Given the description of an element on the screen output the (x, y) to click on. 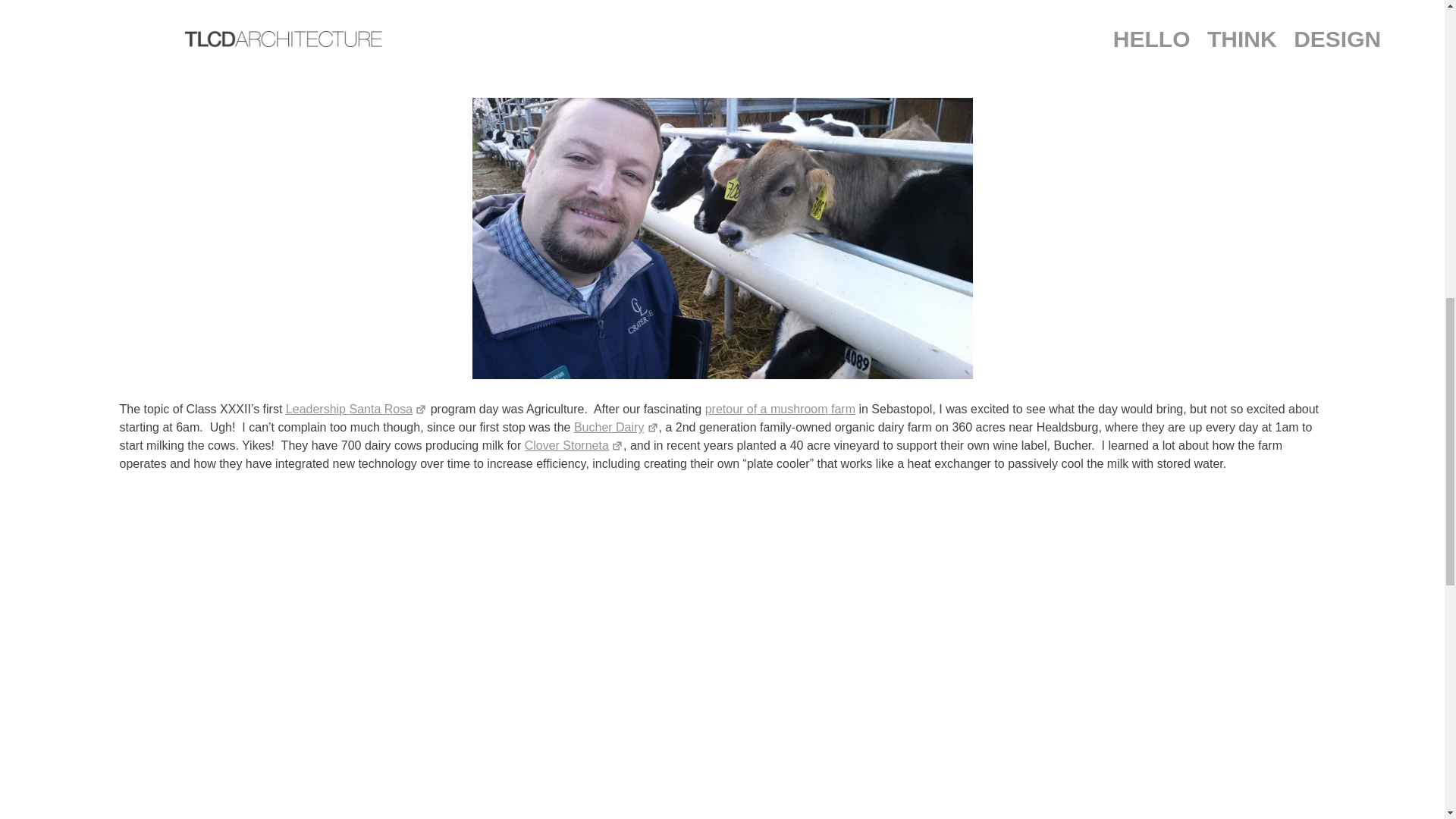
Clover Storneta (573, 445)
pretour of a mushroom farm (780, 408)
Leadership Santa Rosa (355, 408)
Bucher Dairy (616, 427)
